Given the description of an element on the screen output the (x, y) to click on. 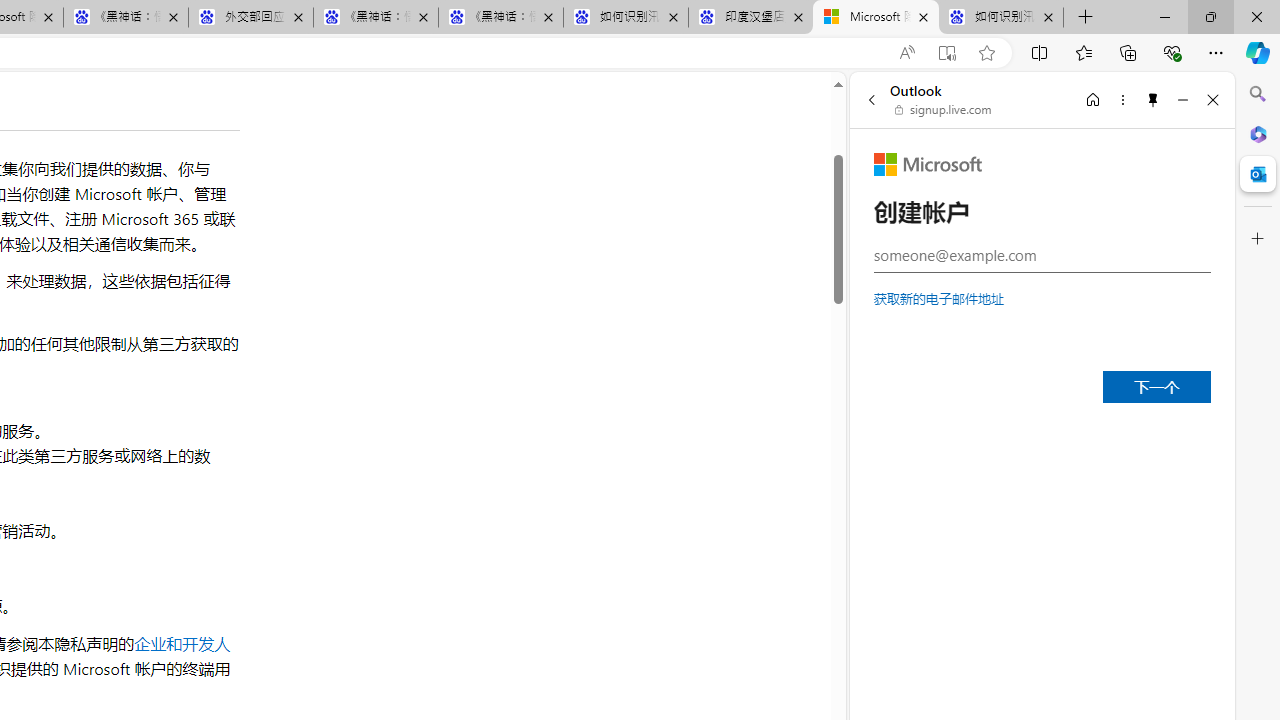
Home (1093, 99)
Close Outlook pane (1258, 174)
Enter Immersive Reader (F9) (946, 53)
